Given the description of an element on the screen output the (x, y) to click on. 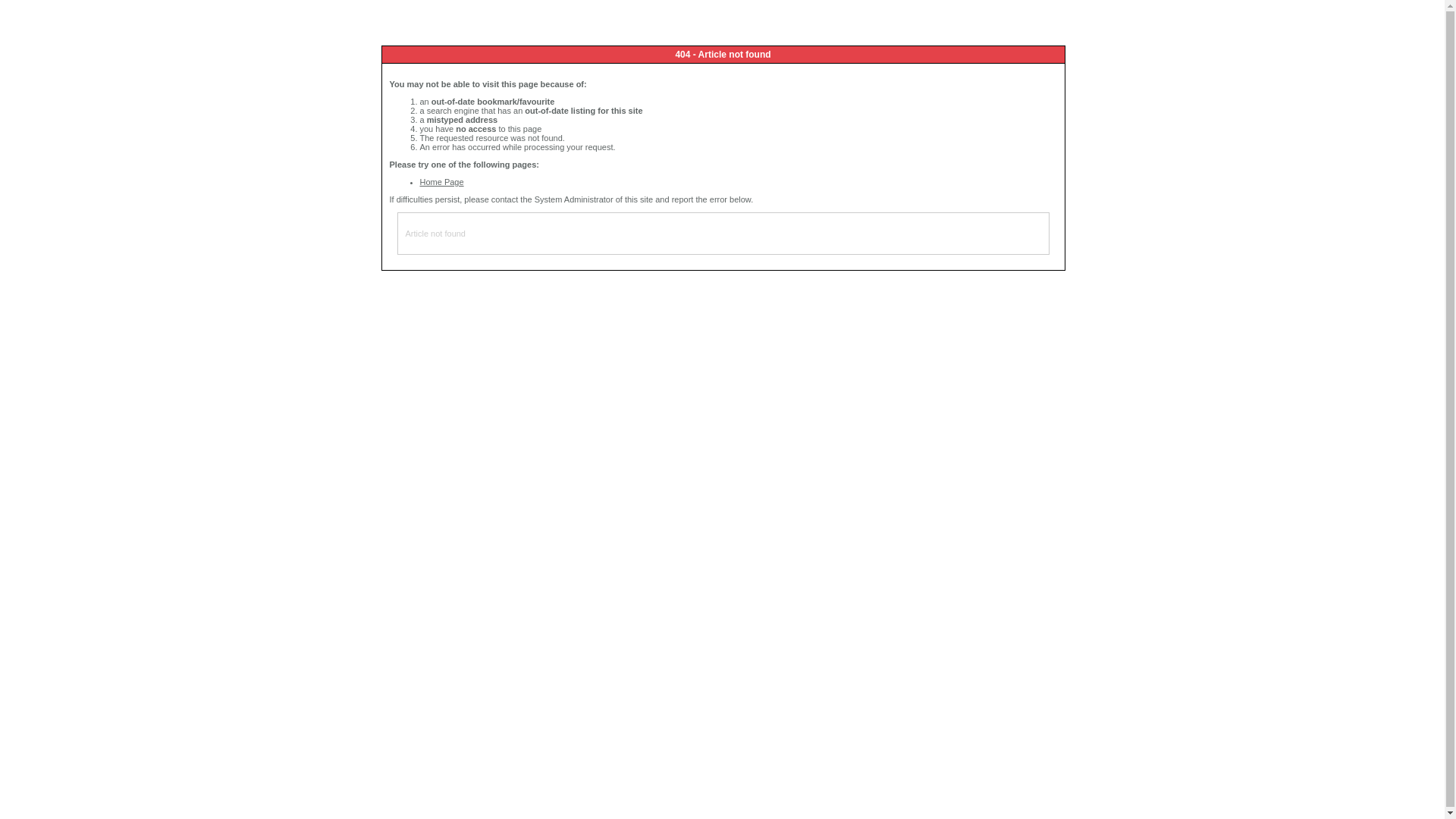
Home Page Element type: text (442, 181)
